Given the description of an element on the screen output the (x, y) to click on. 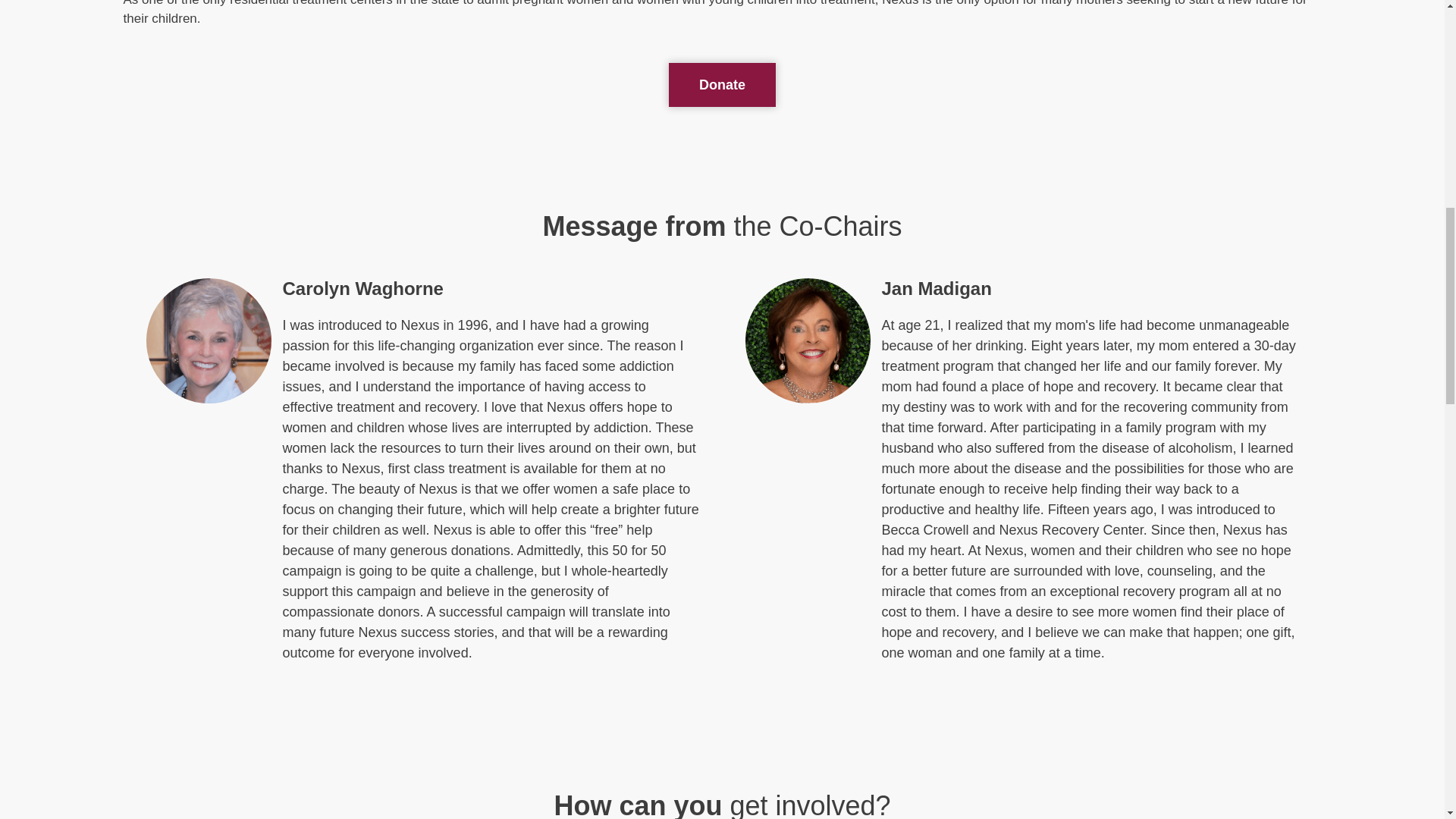
Donate (722, 85)
